Given the description of an element on the screen output the (x, y) to click on. 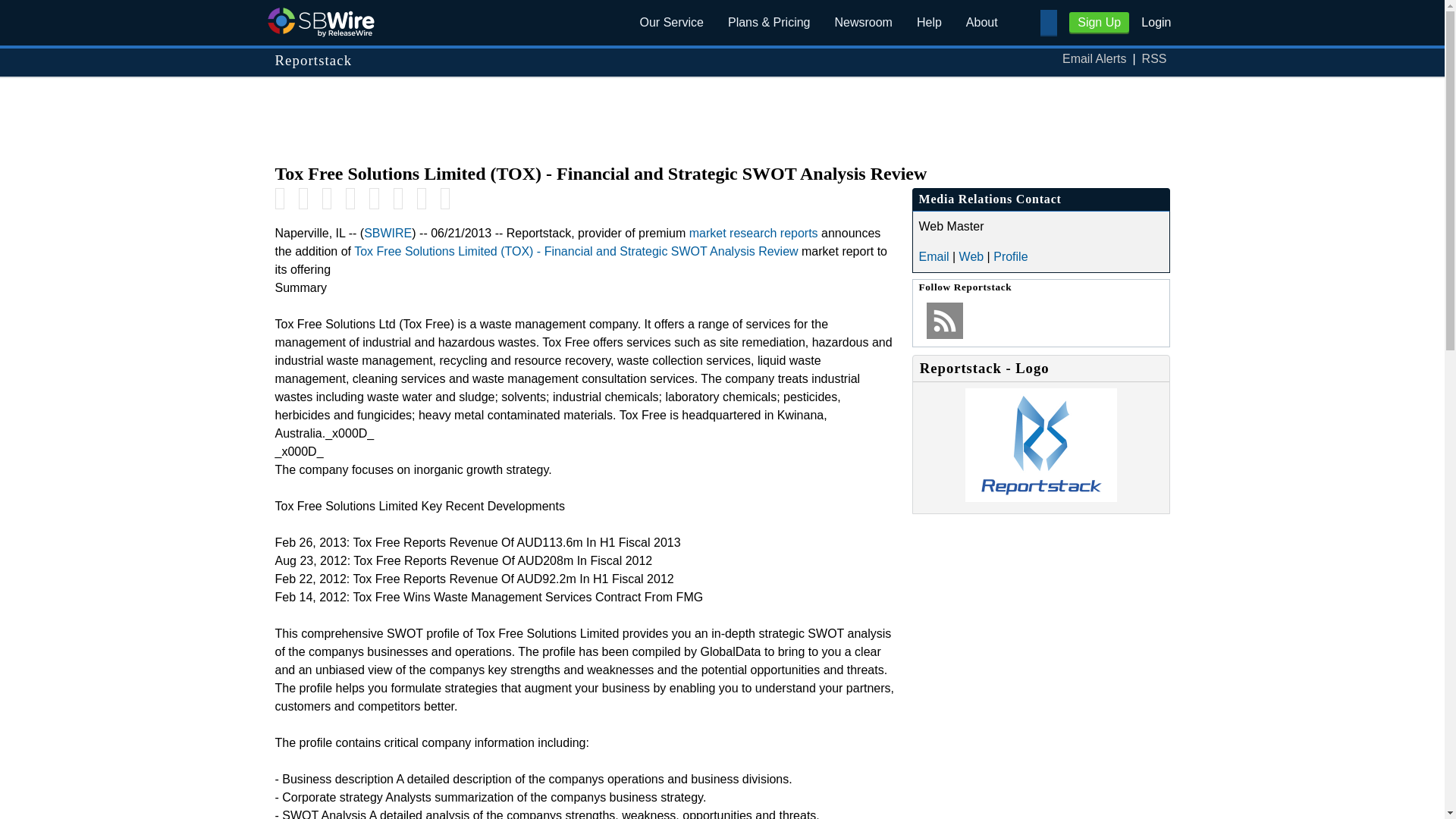
Newsroom (863, 22)
Profile (1009, 256)
Sign Up (1098, 22)
Reportstack - Logo (1039, 497)
Help (928, 22)
Login (1155, 21)
SBWire (320, 21)
Email Alerts (1093, 58)
Our Service (671, 22)
About (981, 22)
RSS (1154, 58)
Advertisement (721, 111)
SBWIRE (388, 232)
market research reports (753, 232)
Web (971, 256)
